Given the description of an element on the screen output the (x, y) to click on. 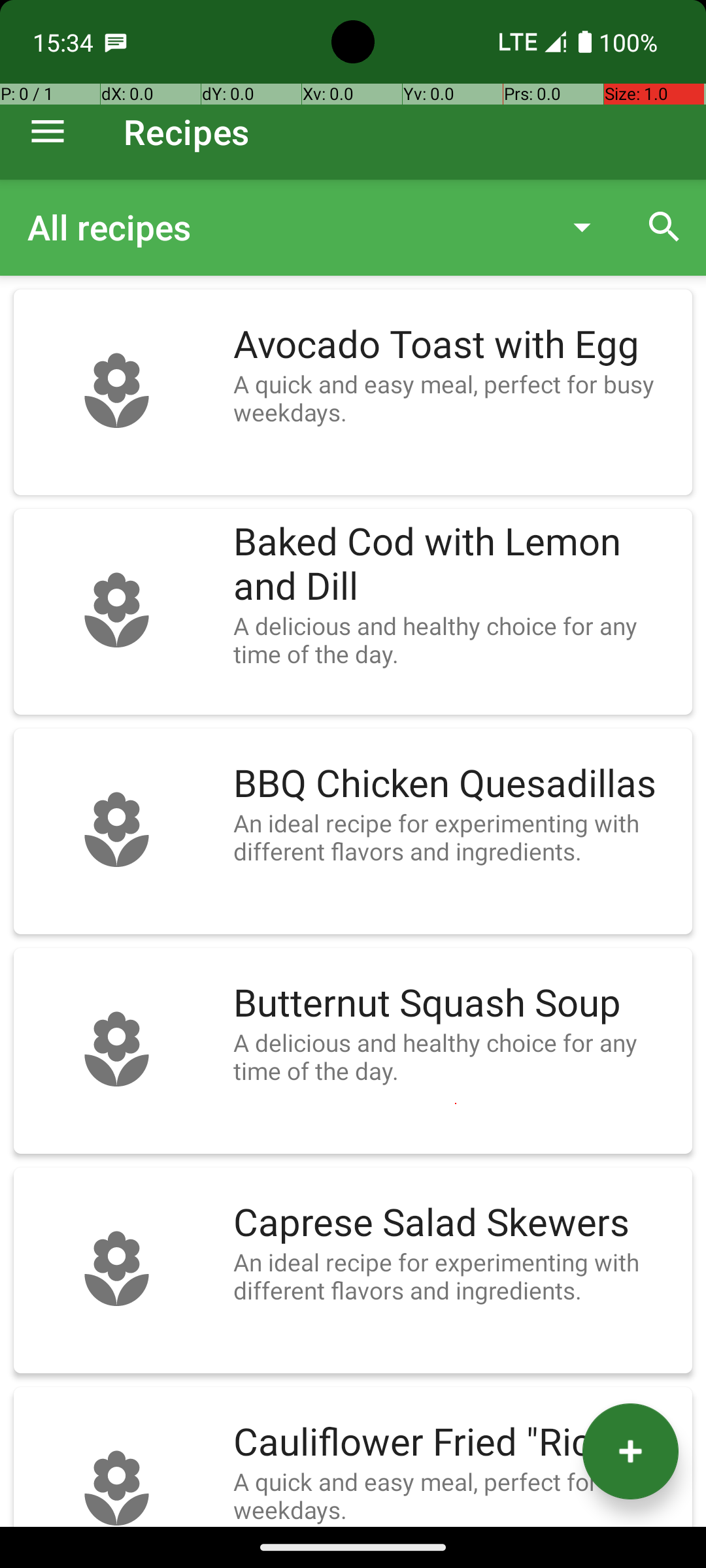
SMS Messenger notification: Isla da Silva Element type: android.widget.ImageView (115, 41)
